Given the description of an element on the screen output the (x, y) to click on. 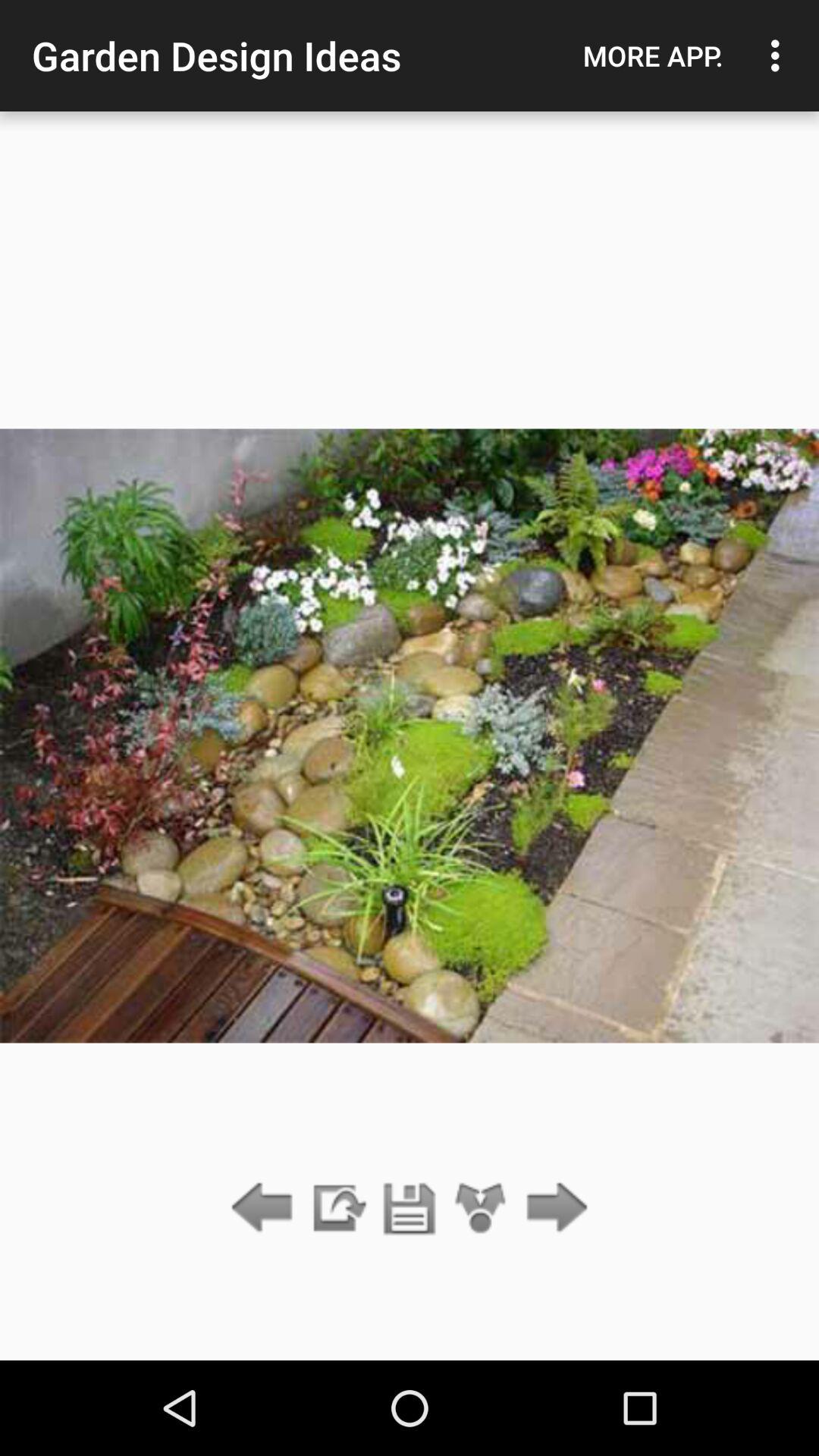
go back previous (266, 1209)
